Given the description of an element on the screen output the (x, y) to click on. 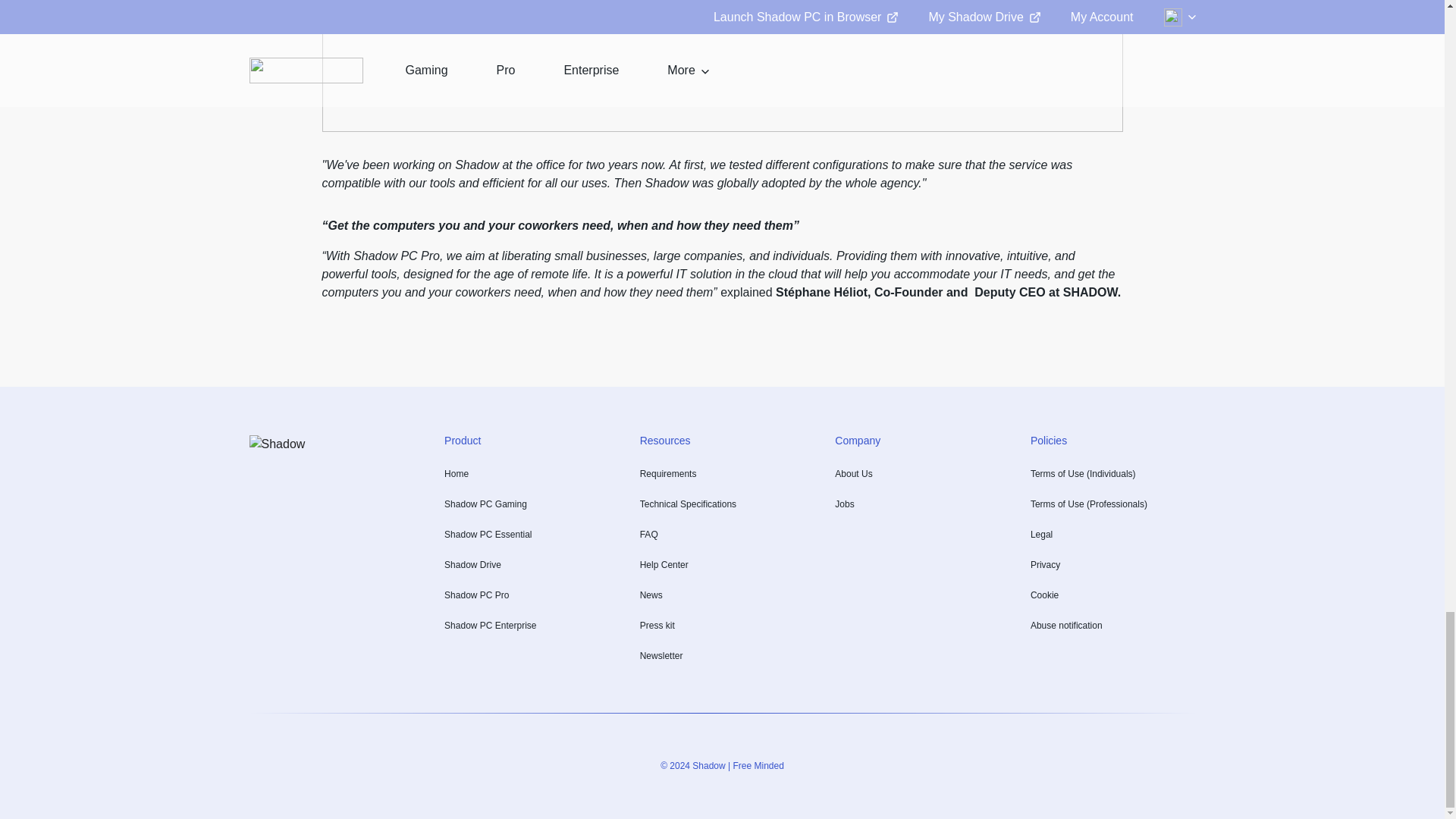
Shadow PC Gaming (485, 504)
Home (456, 473)
